Given the description of an element on the screen output the (x, y) to click on. 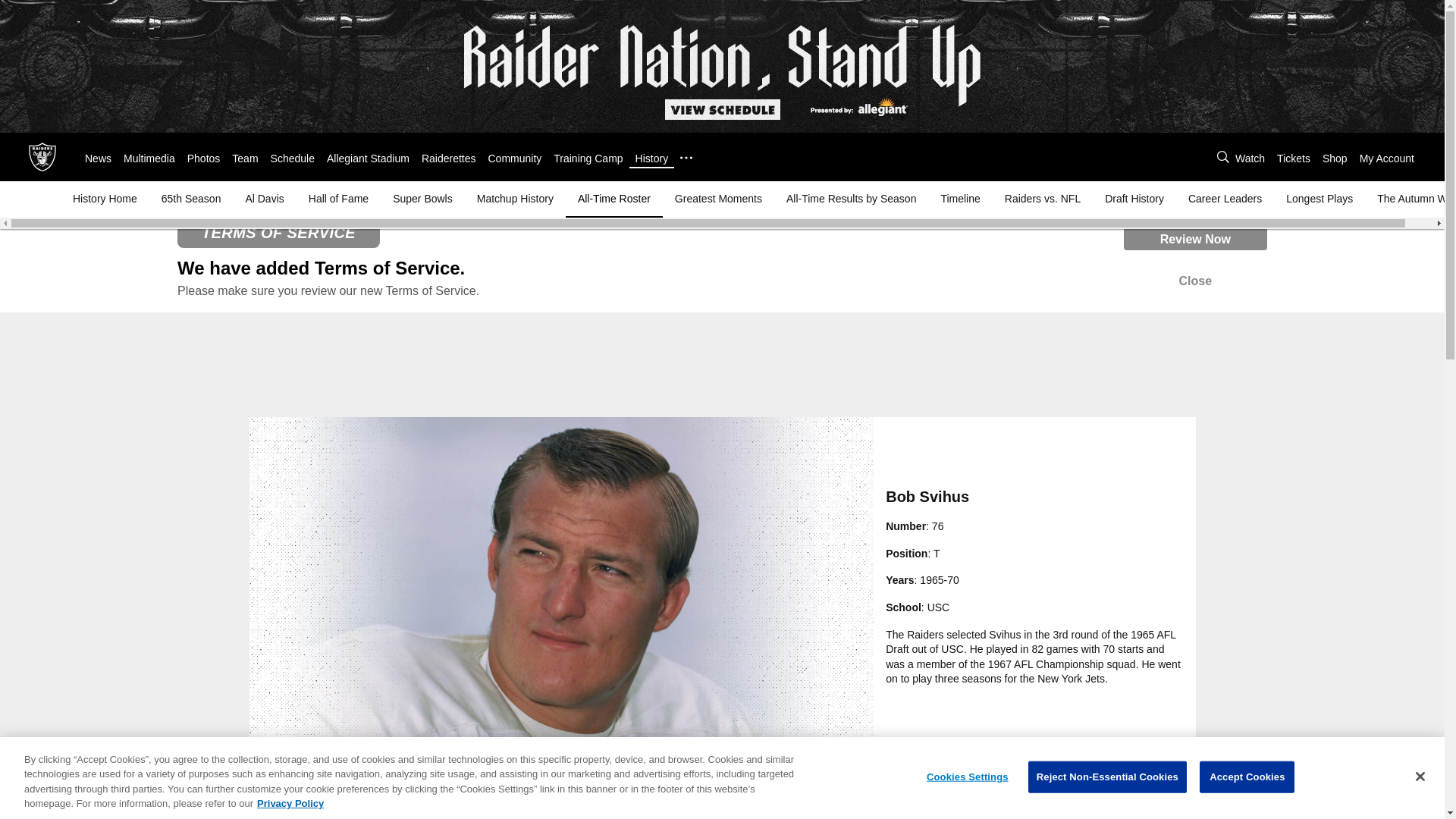
... (686, 157)
News (98, 158)
News (98, 158)
Raiderettes (449, 158)
Greatest Moments (718, 198)
Tickets (1293, 158)
History Home (107, 198)
Shop (1335, 158)
Community (514, 158)
Hall of Fame (338, 198)
Community (514, 158)
3rd party ad content (1394, 108)
Photos (204, 158)
History (651, 158)
Training Camp (588, 158)
